Given the description of an element on the screen output the (x, y) to click on. 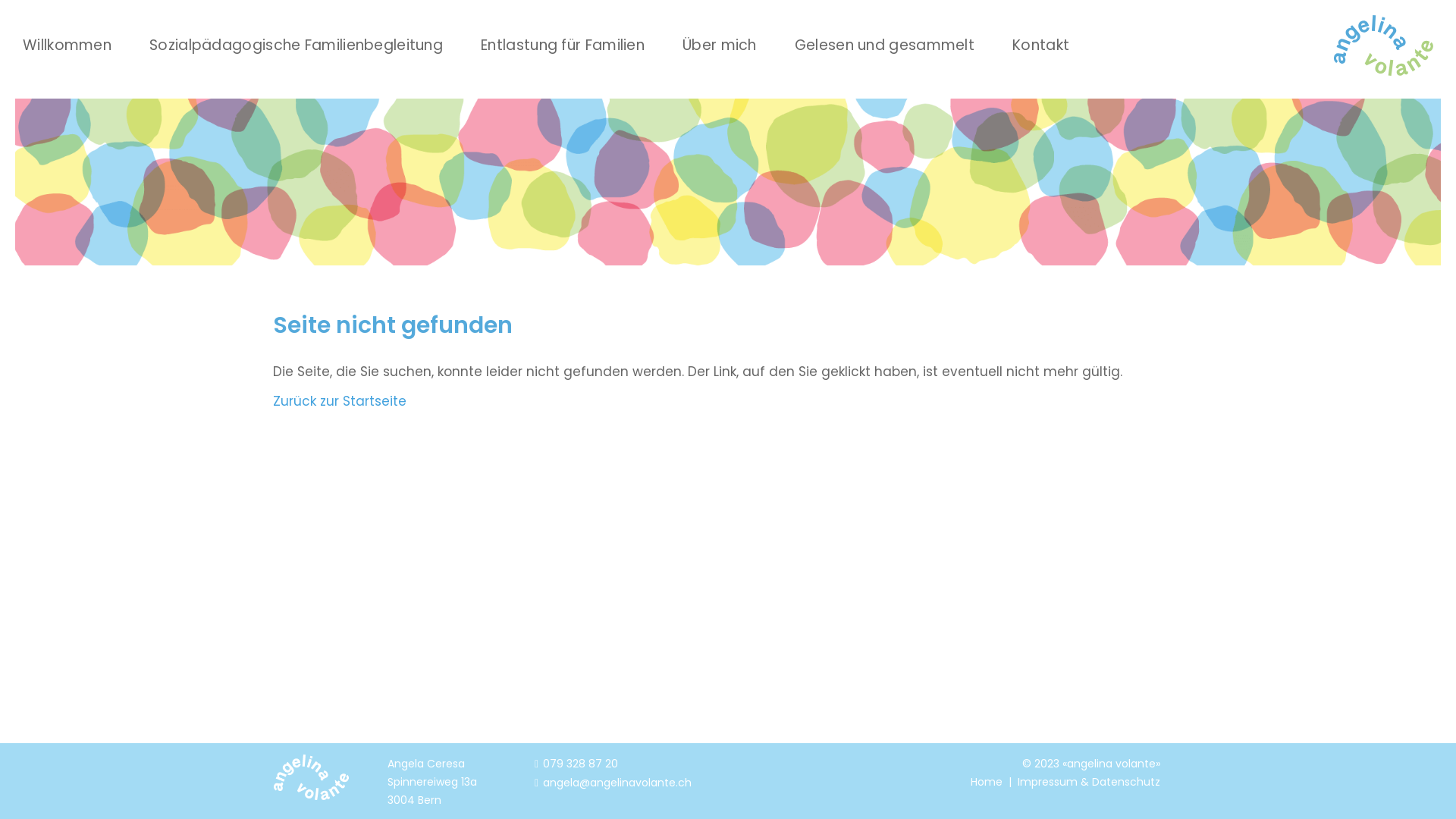
Kontakt Element type: text (1040, 30)
079 328 87 20 Element type: text (576, 763)
Home Element type: text (986, 781)
angelina volante Element type: text (1383, 45)
Impressum & Datenschutz Element type: text (1088, 781)
Willkommen Element type: text (66, 30)
Gelesen und gesammelt Element type: text (884, 30)
angela@angelinavolante.ch Element type: text (612, 782)
